Given the description of an element on the screen output the (x, y) to click on. 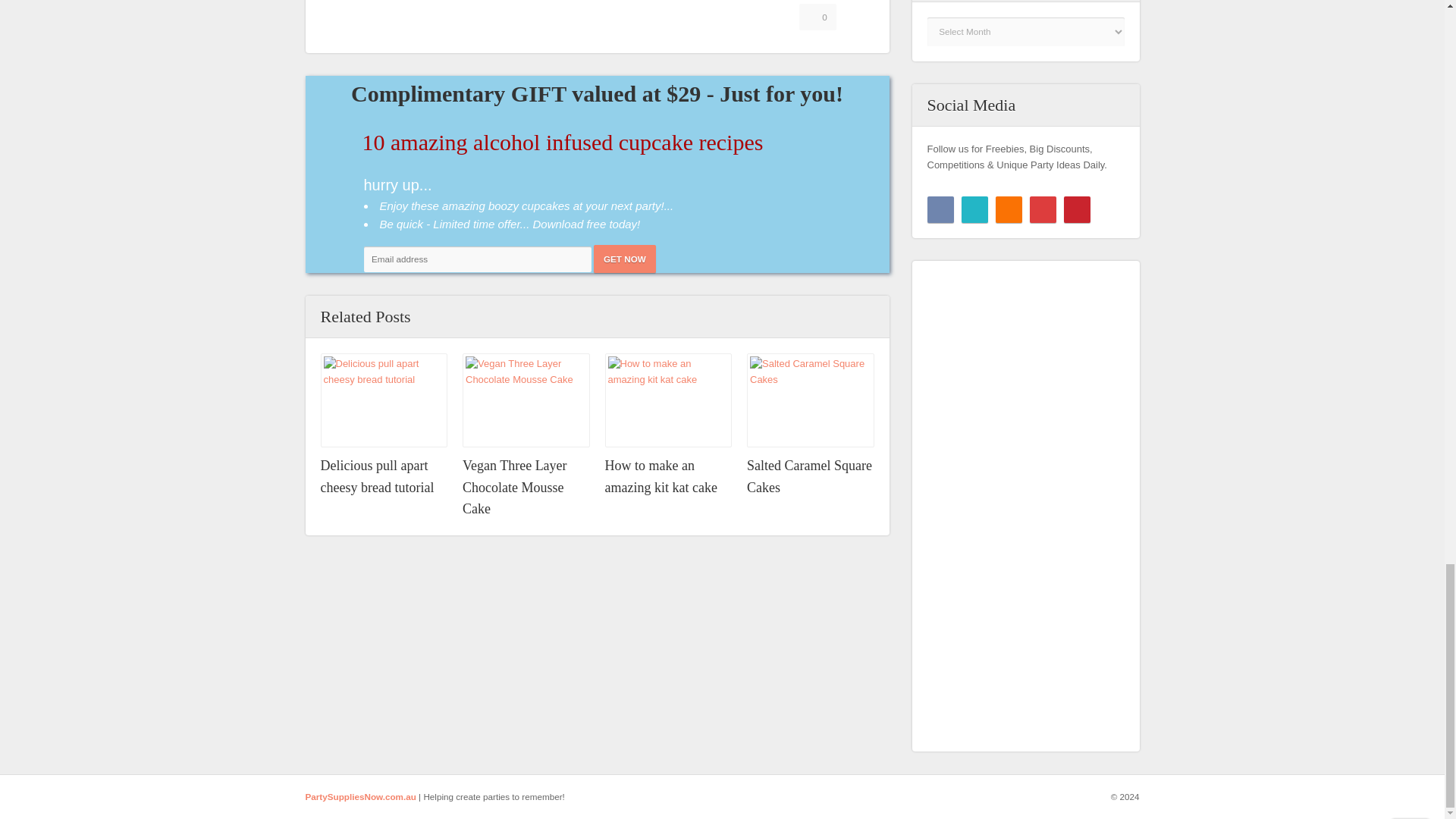
Get Now (625, 257)
Salted Caramel Square Cakes (809, 476)
Vegan Three  Layer Chocolate Mousse Cake (525, 400)
Salted Caramel Square Cakes (809, 400)
Delicious pull apart cheesy bread tutorial (376, 476)
0 (817, 17)
How to make an amazing kit kat cake (661, 476)
Salted Caramel Square Cakes (809, 476)
Vegan Three Layer Chocolate Mousse Cake (515, 486)
How to make an amazing kit kat cake (668, 400)
Delicious pull apart cheesy bread tutorial (383, 400)
Vegan Three  Layer Chocolate Mousse Cake (515, 486)
How to make an amazing kit kat cake (661, 476)
Delicious pull apart cheesy bread tutorial (376, 476)
